Given the description of an element on the screen output the (x, y) to click on. 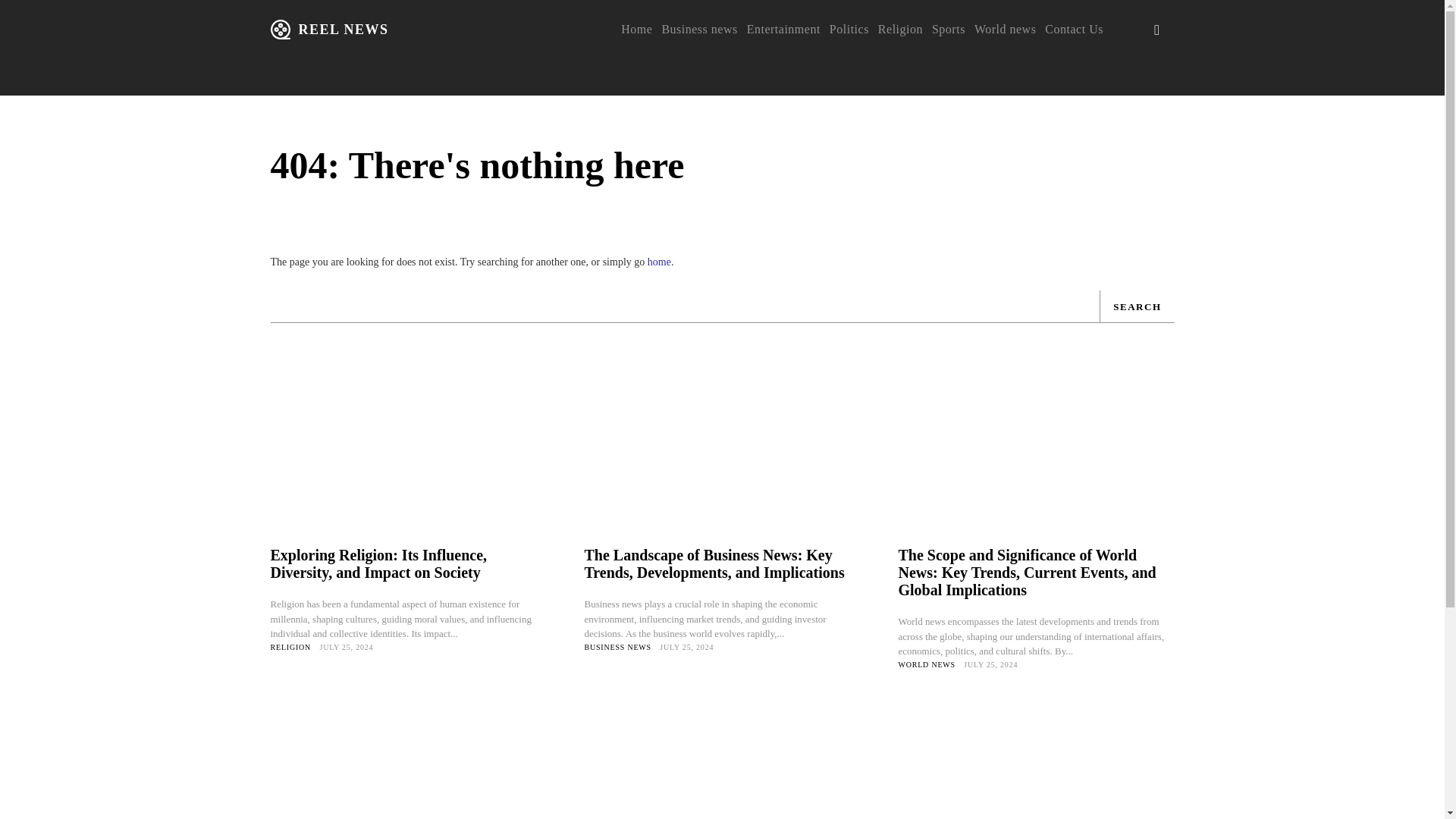
WORLD NEWS (926, 664)
BUSINESS NEWS (616, 646)
SEARCH (1136, 306)
Contact Us (1074, 29)
World news (1004, 29)
